Given the description of an element on the screen output the (x, y) to click on. 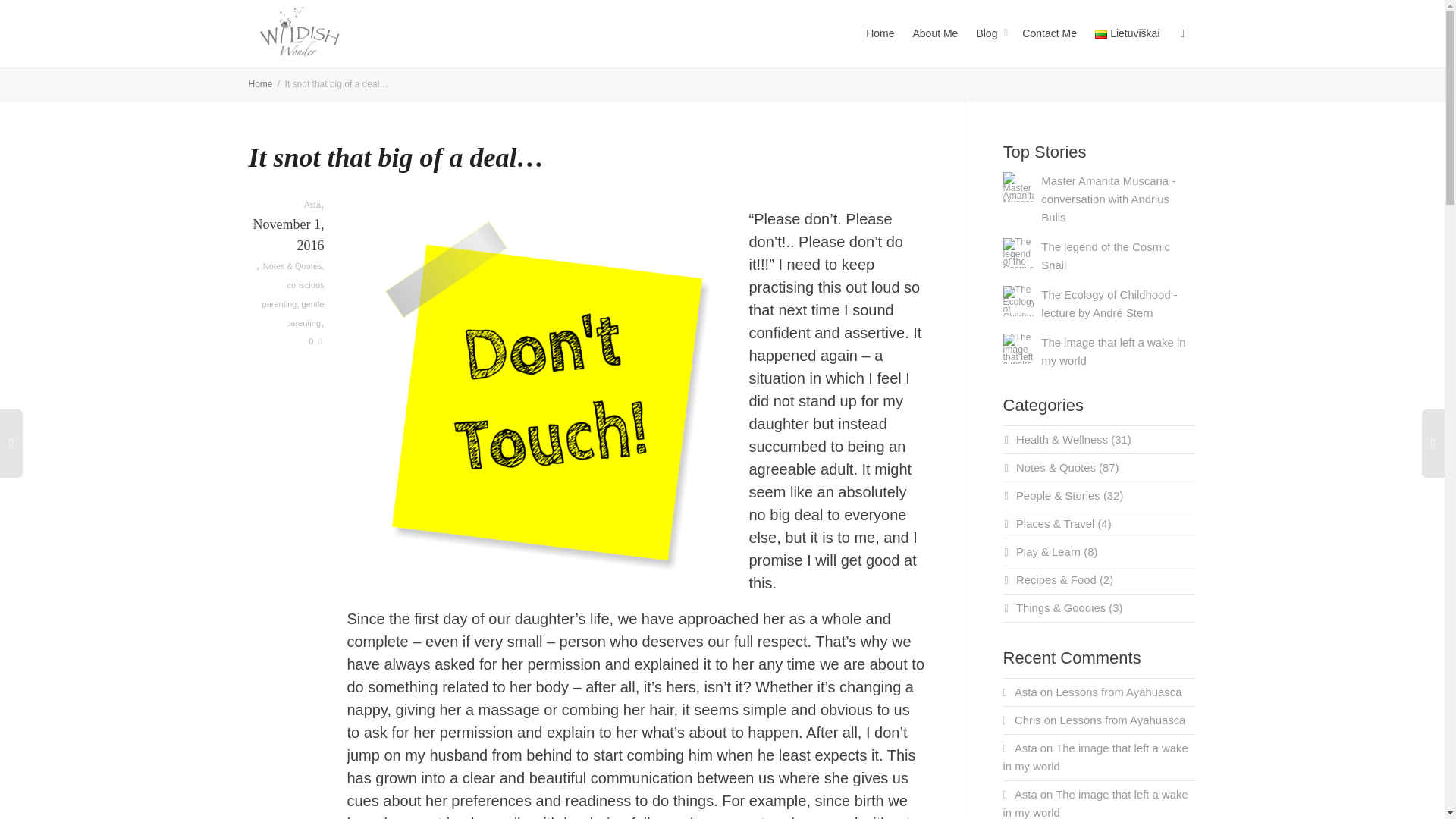
View all POSTS by Asta (312, 204)
November 1, 2016 (286, 246)
Home (260, 83)
Asta (312, 204)
Wildish Wonder (298, 31)
0 (315, 340)
Wildish Wonder (260, 83)
gentle parenting (304, 313)
conscious parenting (293, 294)
